Given the description of an element on the screen output the (x, y) to click on. 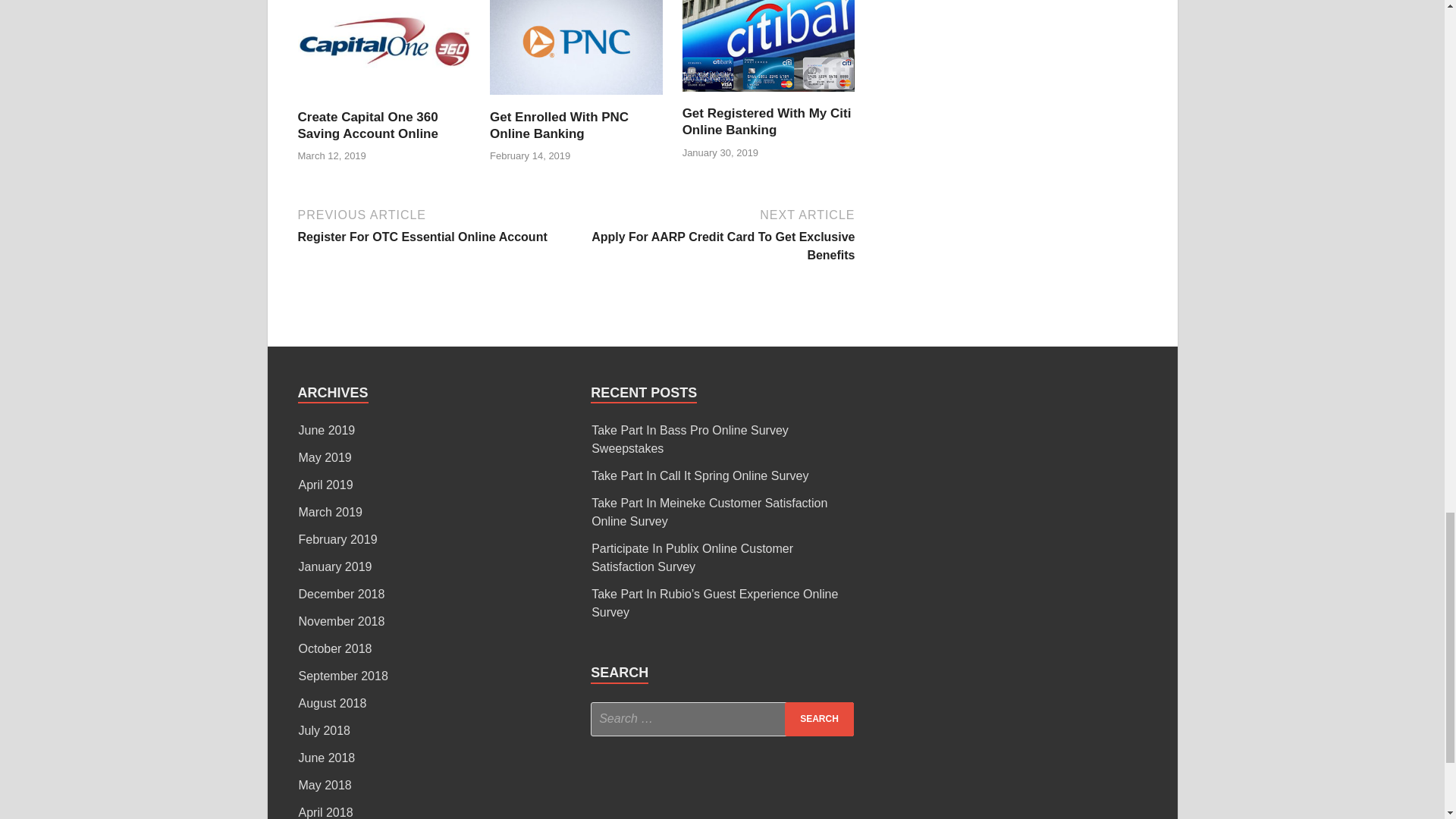
Get Enrolled With PNC Online Banking (558, 124)
Create Capital One 360 Saving Account Online (367, 124)
Create Capital One 360 Saving Account Online (367, 124)
Search (818, 718)
Get Enrolled With PNC Online Banking (558, 124)
Get Registered With My Citi Online Banking (766, 121)
Create Capital One 360 Saving Account Online (383, 99)
Search (818, 718)
Get Enrolled With PNC Online Banking (575, 99)
Get Registered With My Citi Online Banking (769, 95)
Get Registered With My Citi Online Banking (436, 224)
